Given the description of an element on the screen output the (x, y) to click on. 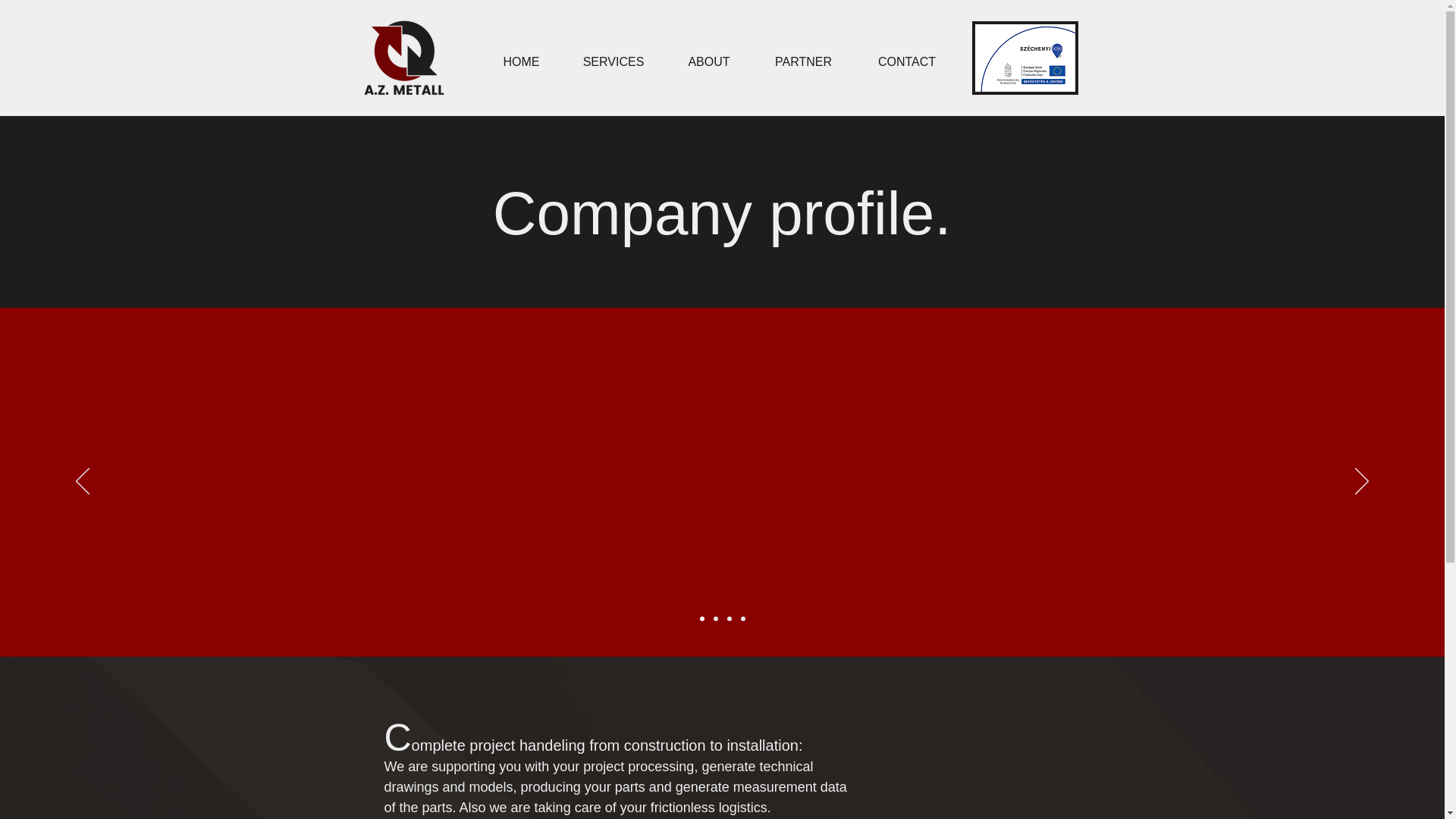
SERVICES (613, 61)
PARTNER (803, 61)
CONTACT (906, 61)
ABOUT (707, 61)
HOME (521, 61)
